Given the description of an element on the screen output the (x, y) to click on. 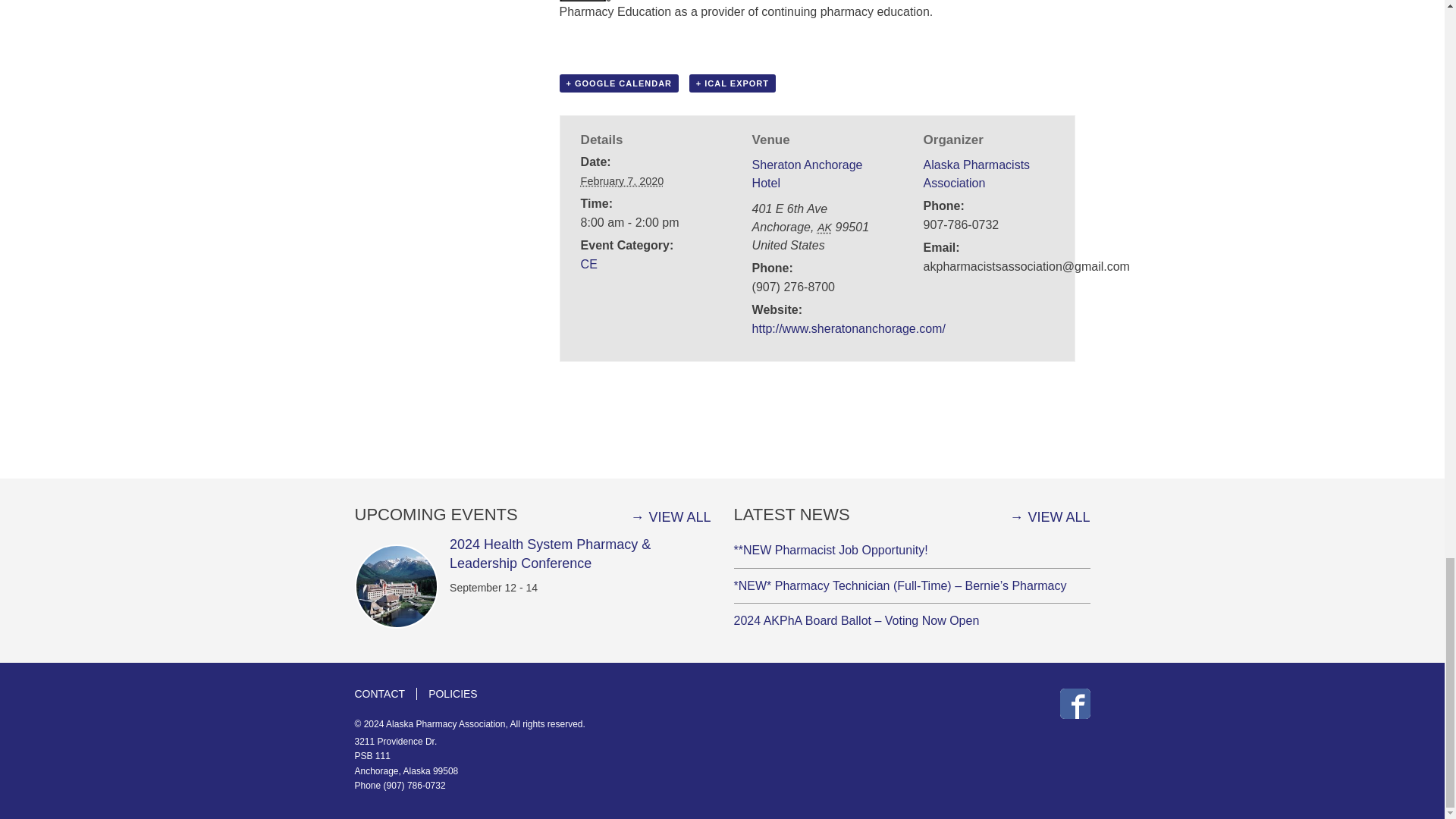
Download .ics file (732, 83)
2020-02-07 (645, 222)
2020-02-07 (621, 181)
Alaska Pharmacists Association (976, 173)
Alaska (823, 227)
Alaska Pharmacists Association (976, 173)
Sheraton Anchorage Hotel (807, 173)
Add to Google Calendar (619, 83)
CE (588, 264)
